Given the description of an element on the screen output the (x, y) to click on. 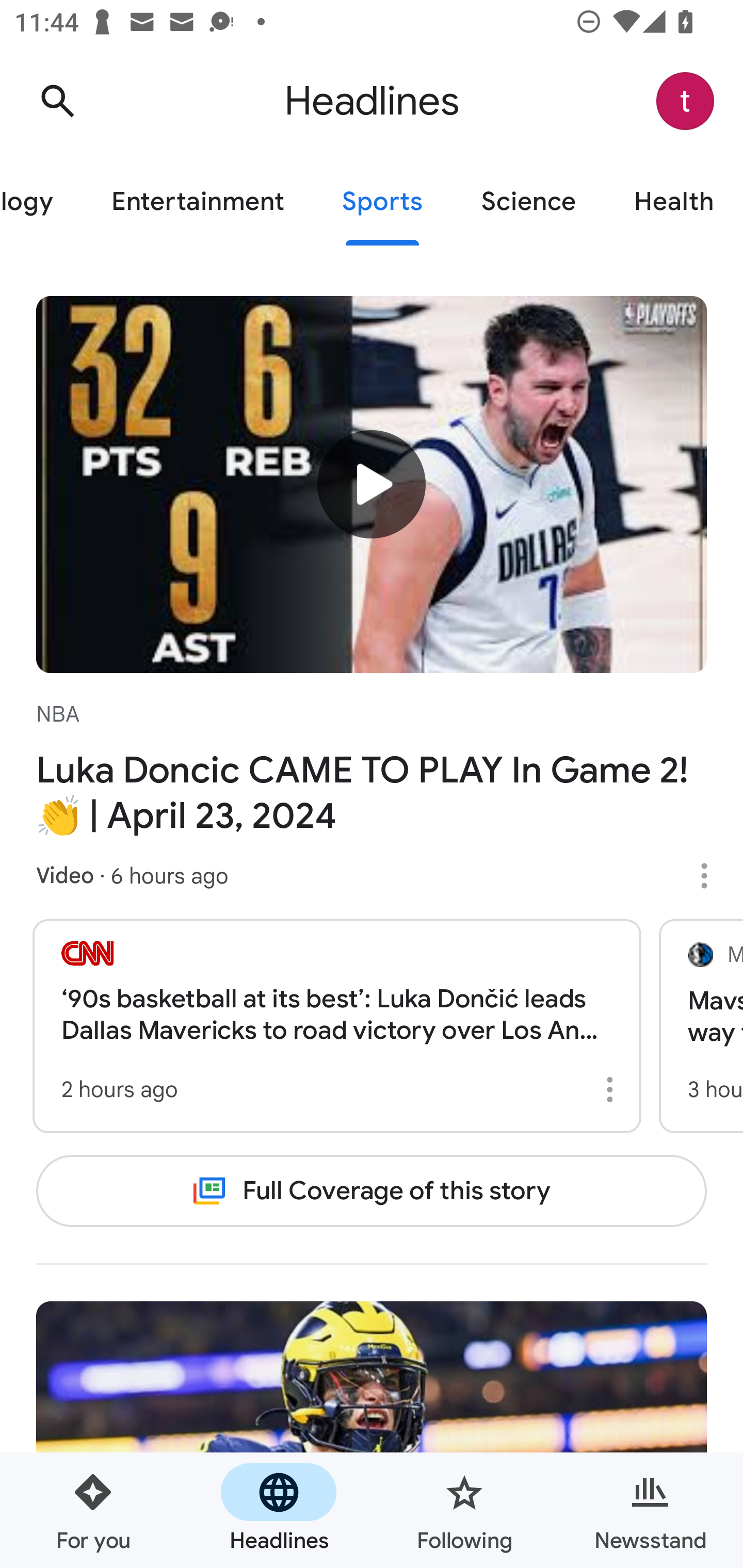
Search (57, 100)
Technology (40, 202)
Entertainment (197, 202)
Science (527, 202)
Health (673, 202)
Play (371, 483)
More options (711, 875)
More options (613, 1089)
Full Coverage of this story (371, 1191)
For you (92, 1509)
Headlines (278, 1509)
Following (464, 1509)
Newsstand (650, 1509)
